Given the description of an element on the screen output the (x, y) to click on. 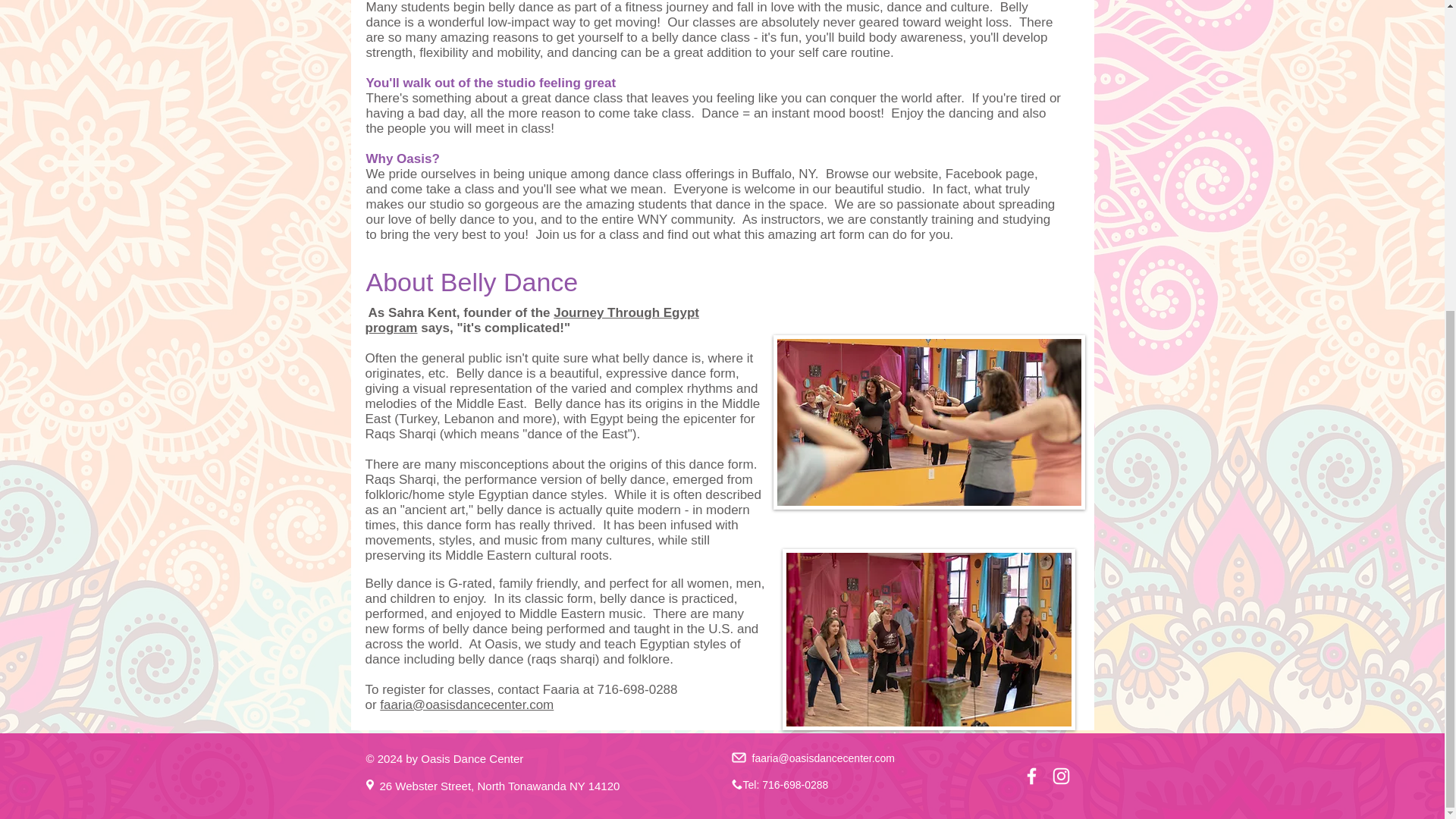
Journey Through Egypt program (531, 319)
